Given the description of an element on the screen output the (x, y) to click on. 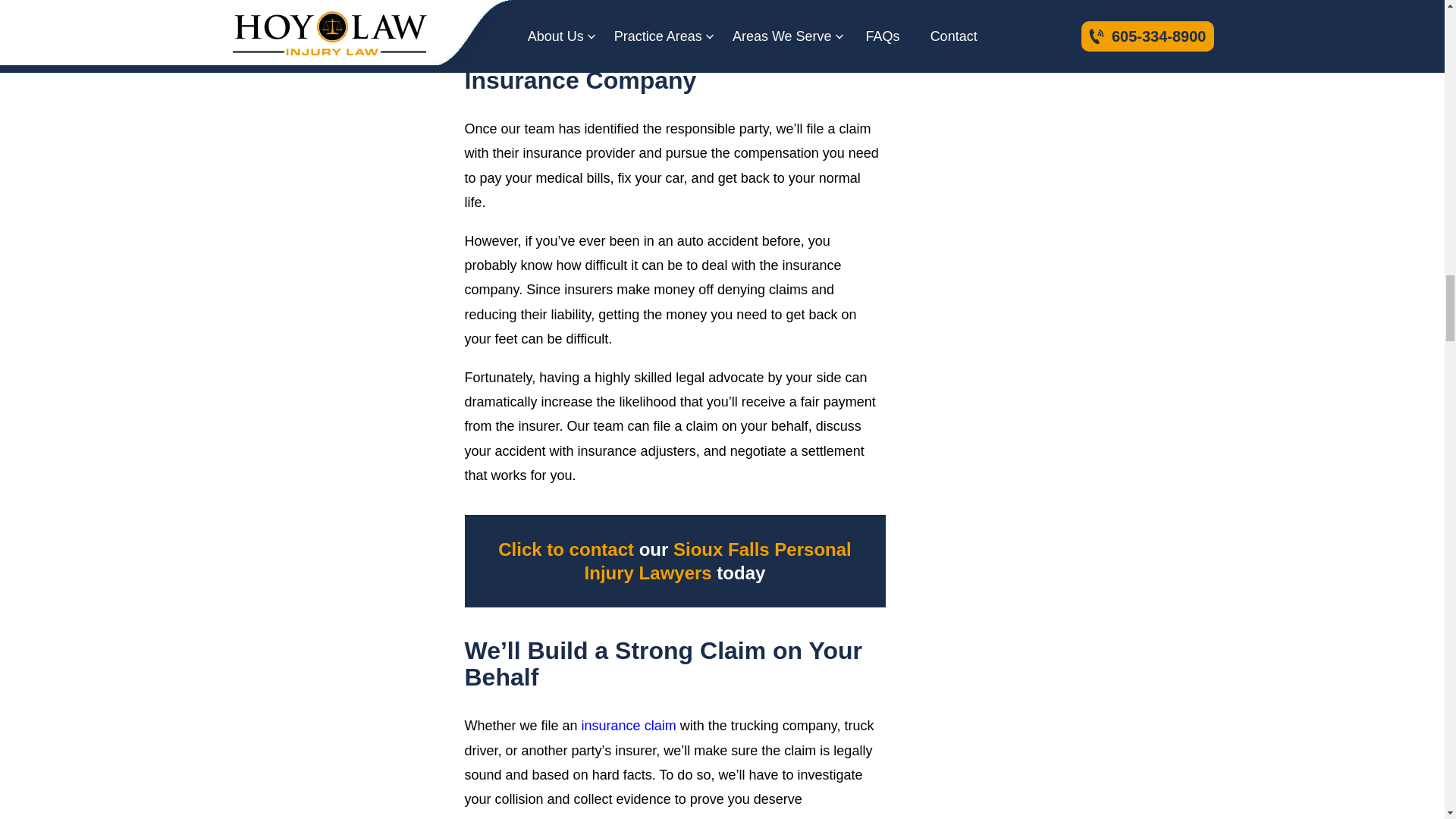
Sioux Falls Personal Injury Lawyers (718, 560)
